Given the description of an element on the screen output the (x, y) to click on. 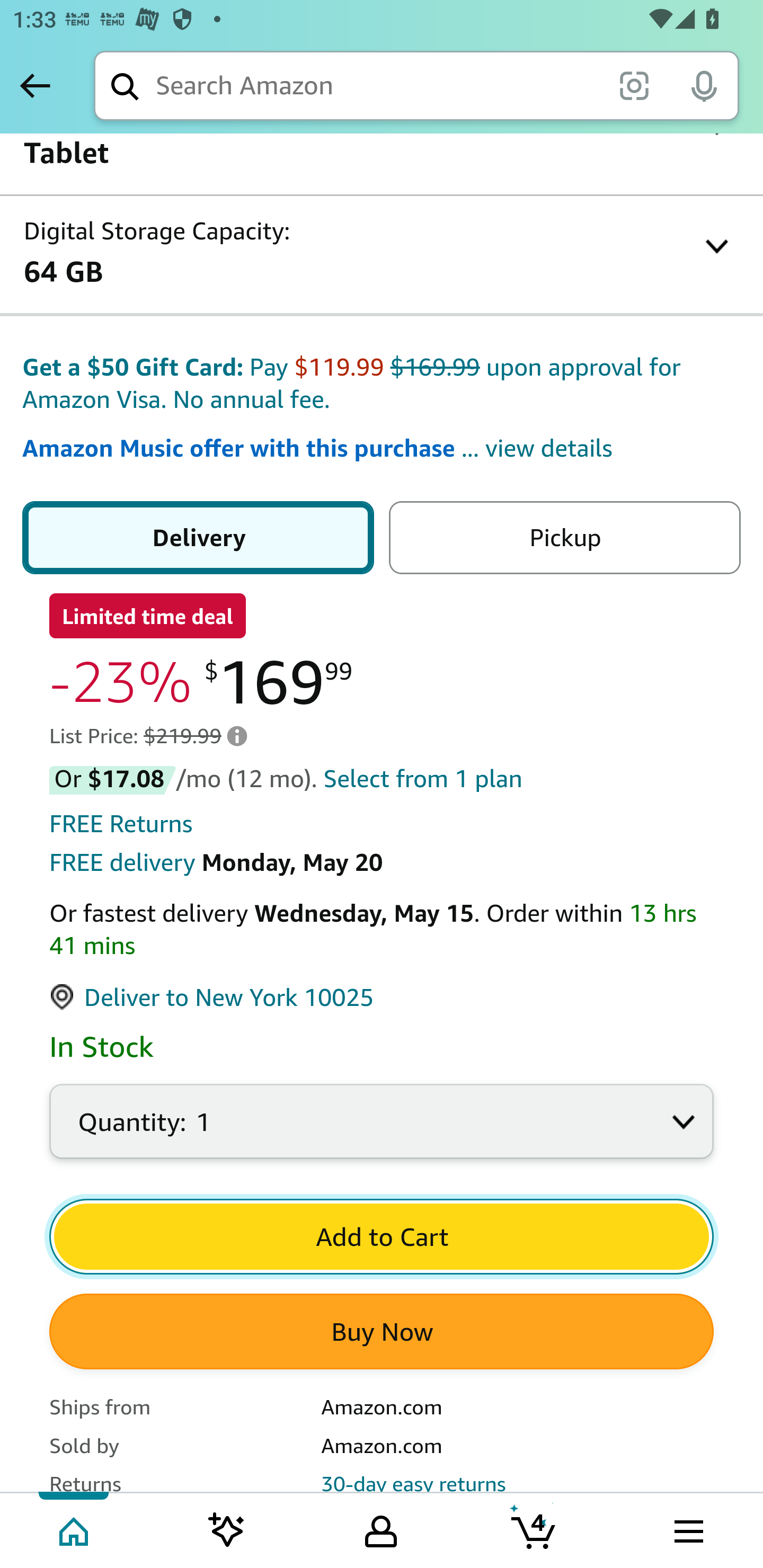
Back (35, 85)
scan it (633, 85)
Delivery (198, 538)
Pickup (564, 538)
Learn more about Amazon pricing and savings (236, 736)
Select from 1 plan (422, 779)
FREE Returns (121, 824)
FREE delivery (122, 863)
Deliver to New York 10025‌ (212, 998)
1 (381, 1131)
Add to Cart (381, 1237)
Buy Now (381, 1332)
Home Tab 1 of 5 (75, 1529)
Inspire feed Tab 2 of 5 (227, 1529)
Your Amazon.com Tab 3 of 5 (380, 1529)
Cart 4 items Tab 4 of 5 4 (534, 1529)
Browse menu Tab 5 of 5 (687, 1529)
